Given the description of an element on the screen output the (x, y) to click on. 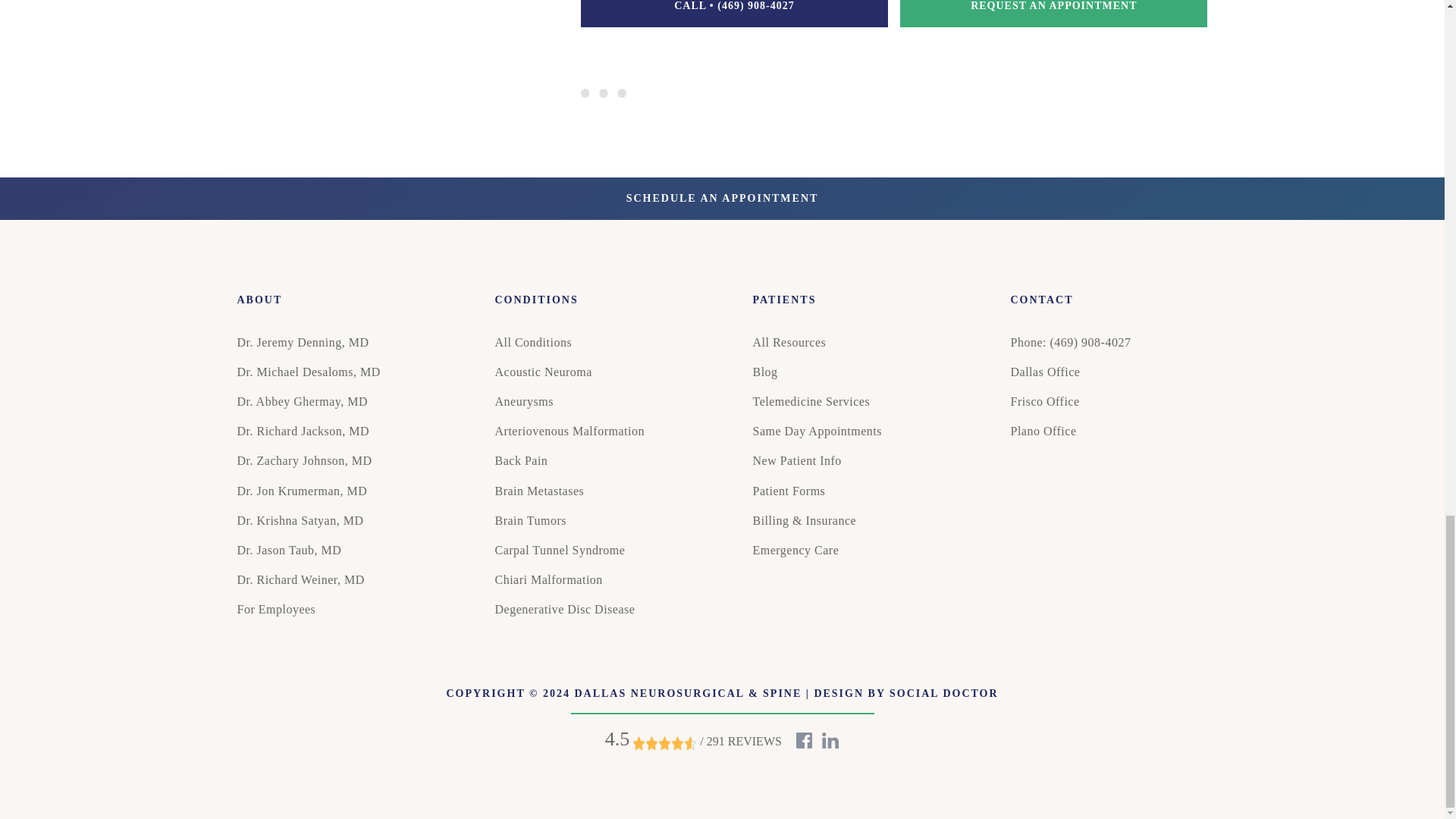
Dr. Jon Krumerman, MD (300, 490)
Aneurysms (524, 400)
Brain Metastases (539, 490)
Dr. Zachary Johnson, MD (303, 460)
Dr. Richard Weiner, MD (299, 579)
Brain Tumors (530, 520)
Dr. Krishna Satyan, MD (298, 520)
For Employees (275, 608)
Back Pain (521, 460)
All Conditions (533, 341)
Dr. Jeremy Denning, MD (301, 341)
Arteriovenous Malformation (569, 431)
Degenerative Disc Disease (564, 608)
Dr. Richard Jackson, MD (302, 431)
Dr. Jason Taub, MD (287, 549)
